Given the description of an element on the screen output the (x, y) to click on. 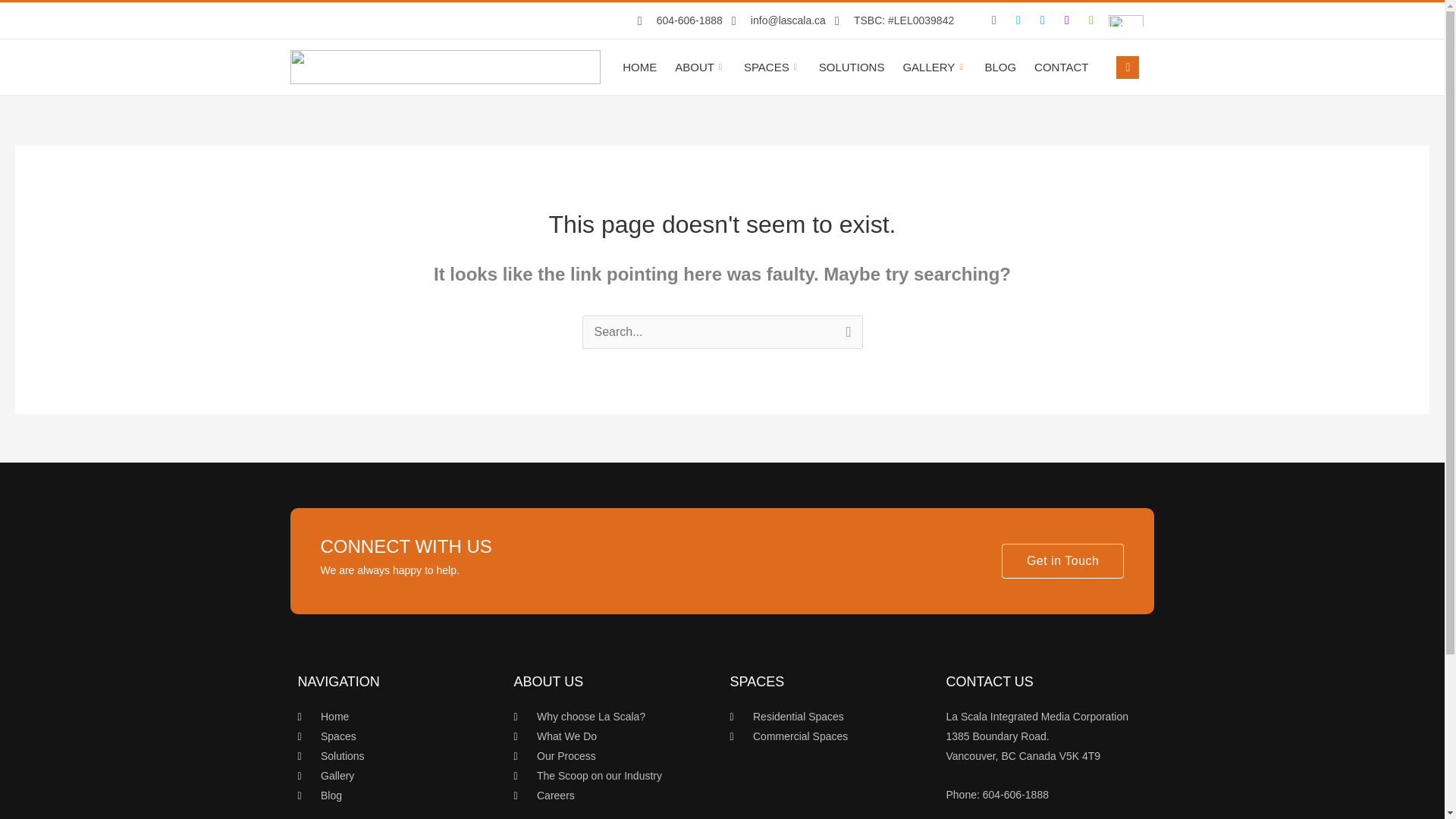
SOLUTIONS (851, 67)
604-606-1888 (679, 21)
Search (844, 336)
Search (844, 336)
BLOG (1000, 67)
ABOUT (700, 67)
Search (844, 336)
HOME (638, 67)
Get in Touch (1062, 560)
SPACES (772, 67)
CONTACT (1061, 67)
GALLERY (934, 67)
